Given the description of an element on the screen output the (x, y) to click on. 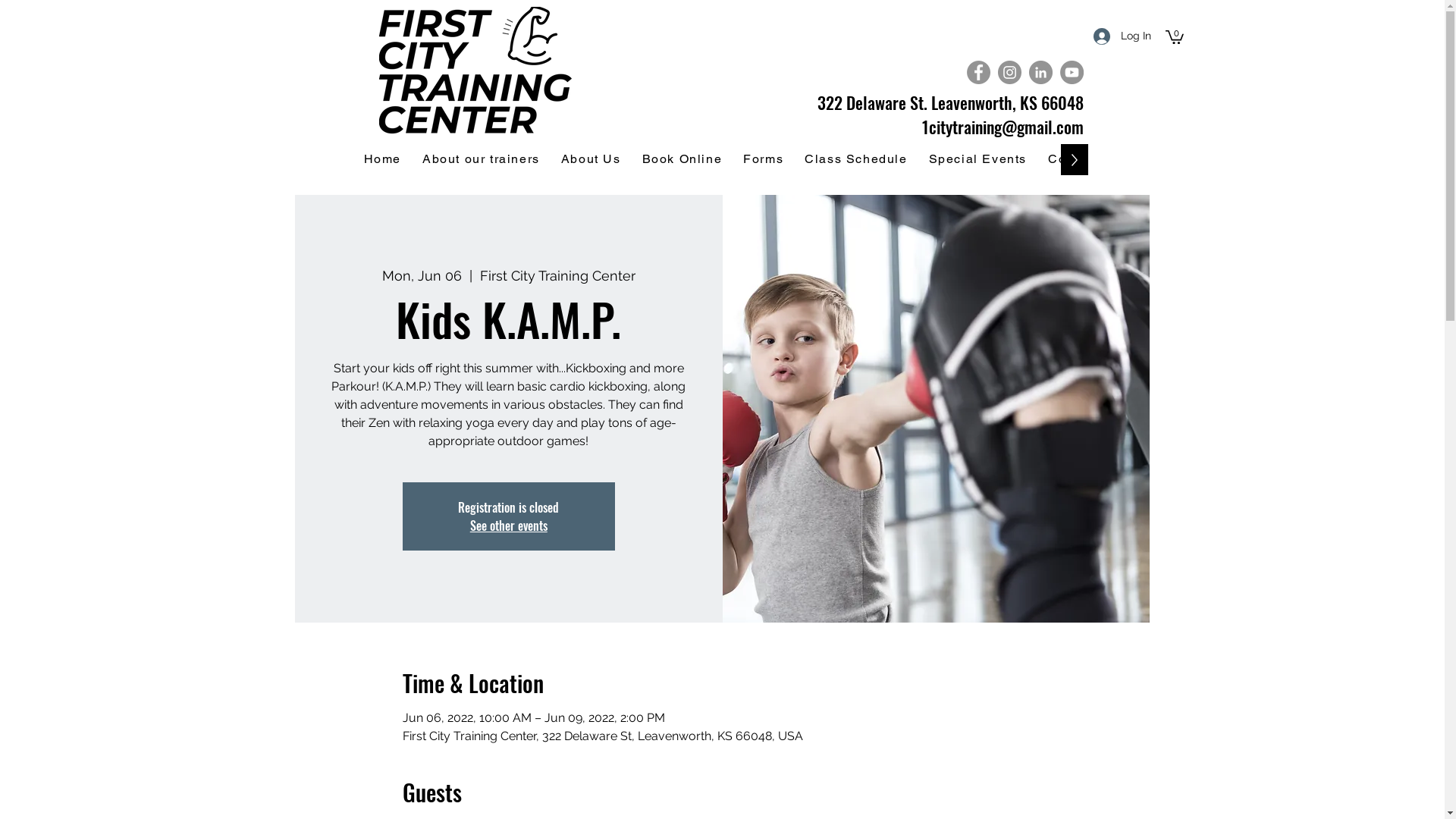
Log In Element type: text (1121, 35)
0 Element type: text (1173, 35)
Home Element type: text (382, 159)
Contact Element type: text (1072, 159)
Class Schedule Element type: text (855, 159)
Special Events Element type: text (977, 159)
About Us Element type: text (590, 159)
See other events Element type: text (508, 525)
Black on Transparent.png Element type: hover (475, 72)
About our trainers Element type: text (480, 159)
